Given the description of an element on the screen output the (x, y) to click on. 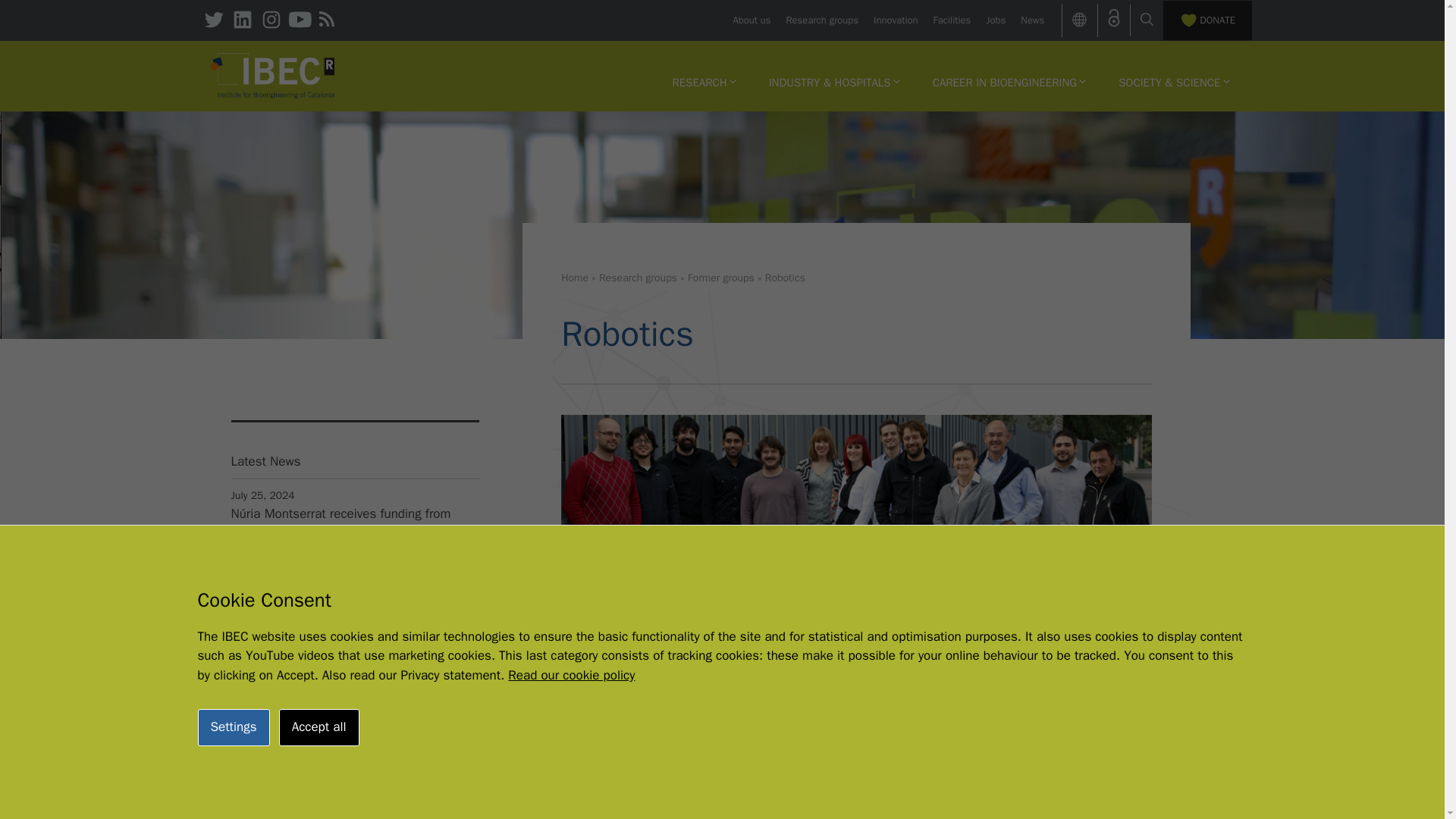
Research groups (822, 19)
Jobs (995, 19)
DONATE (1207, 20)
Innovation (895, 19)
Facilities (952, 19)
Institute for Bioengineering of Catalonia (272, 74)
News (1031, 19)
RESEARCH (704, 81)
Institute for Bioengineering of Catalonia (272, 75)
About us (751, 19)
